Given the description of an element on the screen output the (x, y) to click on. 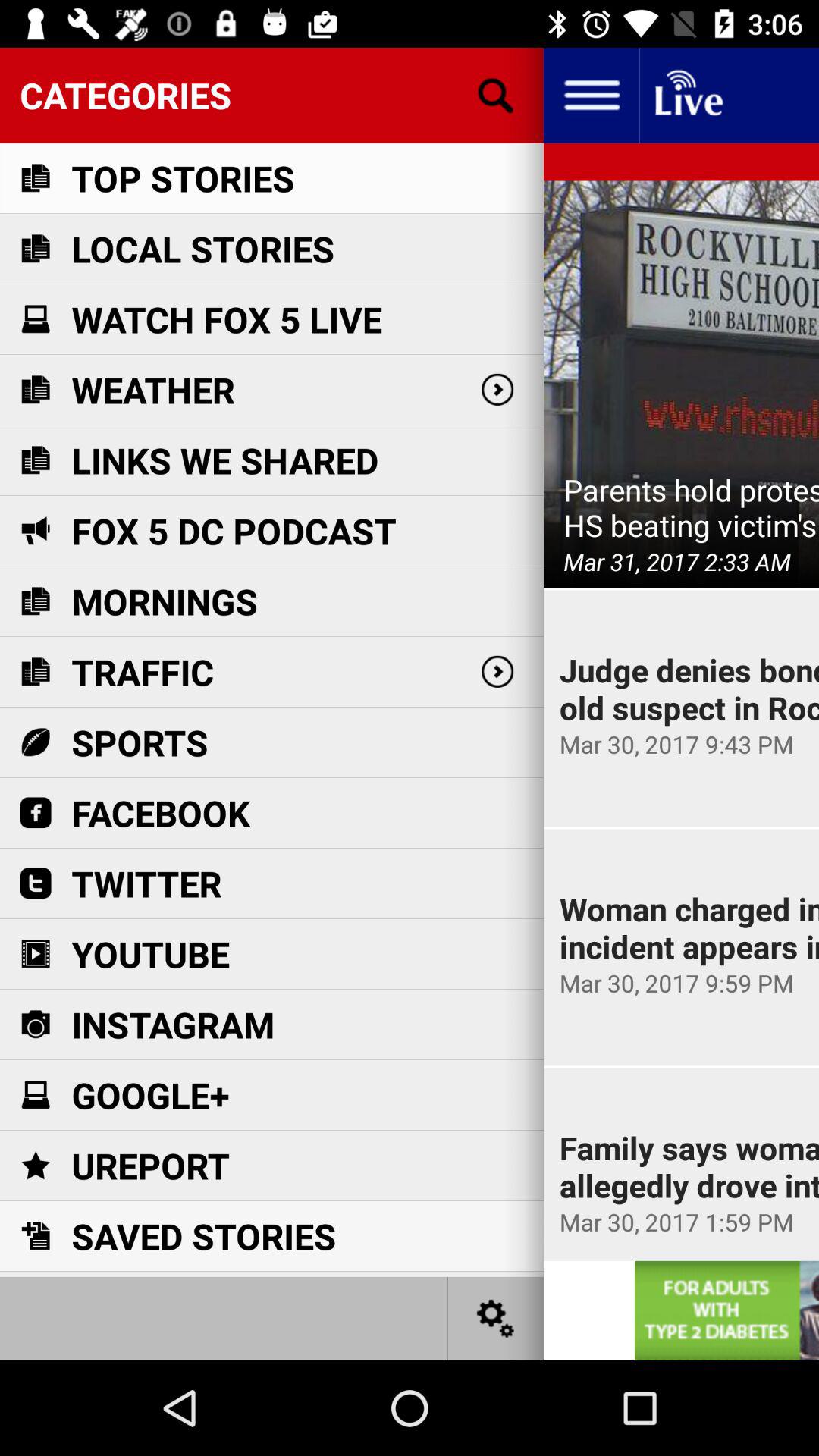
click to enter search (495, 95)
